Given the description of an element on the screen output the (x, y) to click on. 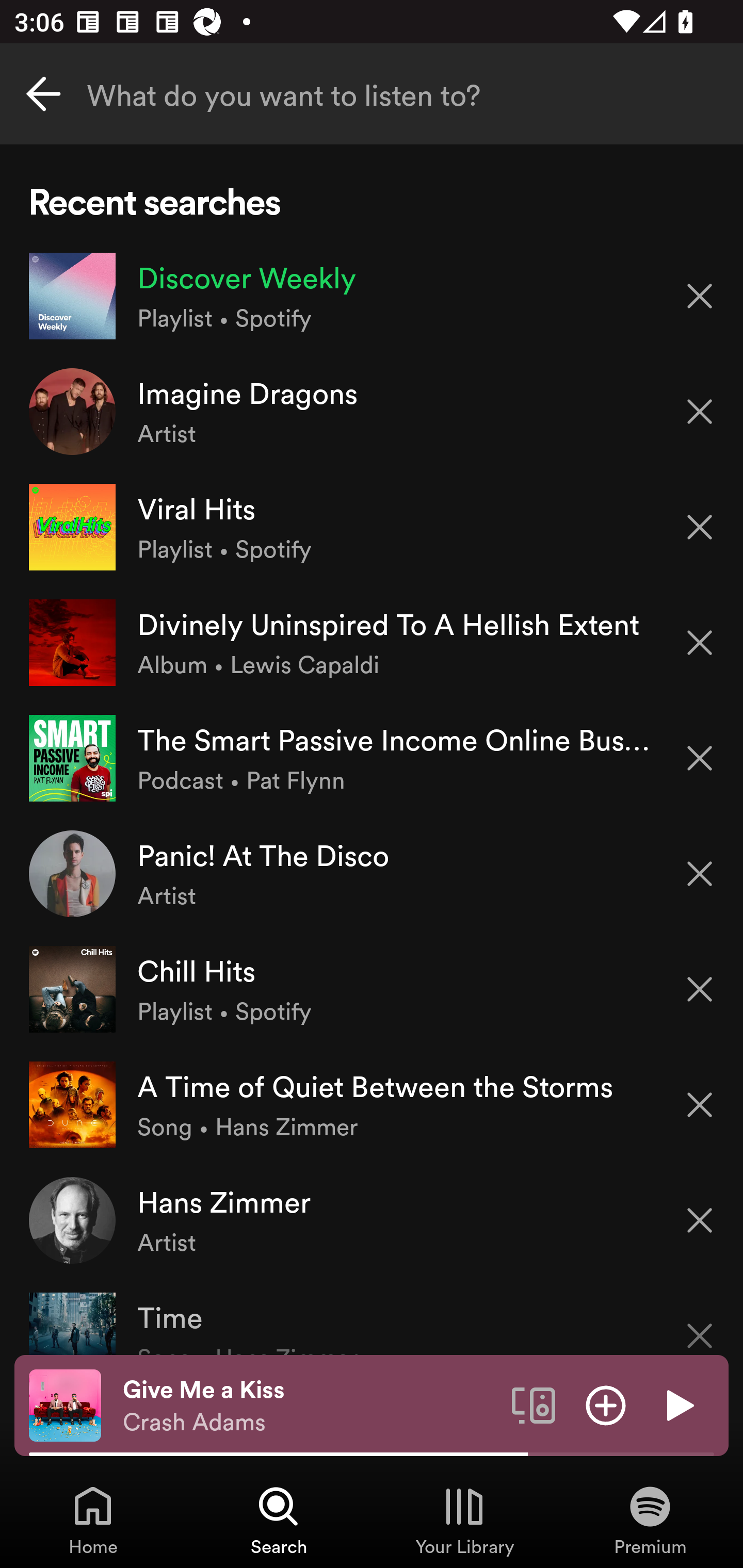
What do you want to listen to? (371, 93)
Cancel (43, 93)
Discover Weekly Playlist • Spotify Remove (371, 296)
Remove (699, 295)
Imagine Dragons Artist Remove (371, 411)
Remove (699, 411)
Viral Hits Playlist • Spotify Remove (371, 526)
Remove (699, 527)
Remove (699, 642)
Remove (699, 758)
Panic! At The Disco Artist Remove (371, 873)
Remove (699, 874)
Chill Hits Playlist • Spotify Remove (371, 989)
Remove (699, 989)
Remove (699, 1104)
Hans Zimmer Artist Remove (371, 1219)
Remove (699, 1220)
Time Song • Hans Zimmer Remove (371, 1315)
Remove (699, 1323)
Give Me a Kiss Crash Adams (309, 1405)
The cover art of the currently playing track (64, 1404)
Connect to a device. Opens the devices menu (533, 1404)
Add item (605, 1404)
Play (677, 1404)
Home, Tab 1 of 4 Home Home (92, 1519)
Search, Tab 2 of 4 Search Search (278, 1519)
Your Library, Tab 3 of 4 Your Library Your Library (464, 1519)
Premium, Tab 4 of 4 Premium Premium (650, 1519)
